Given the description of an element on the screen output the (x, y) to click on. 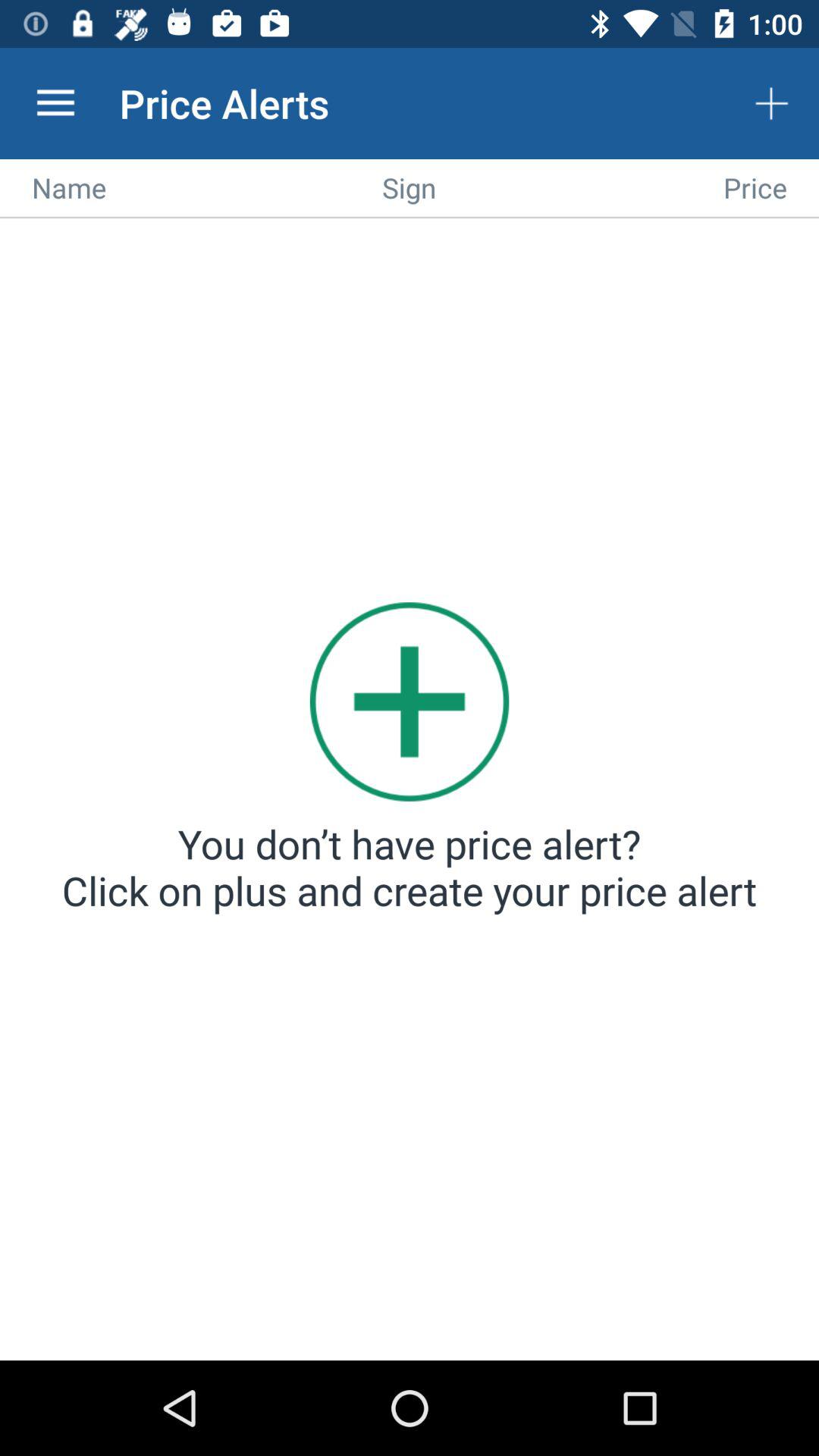
add alert (409, 791)
